Given the description of an element on the screen output the (x, y) to click on. 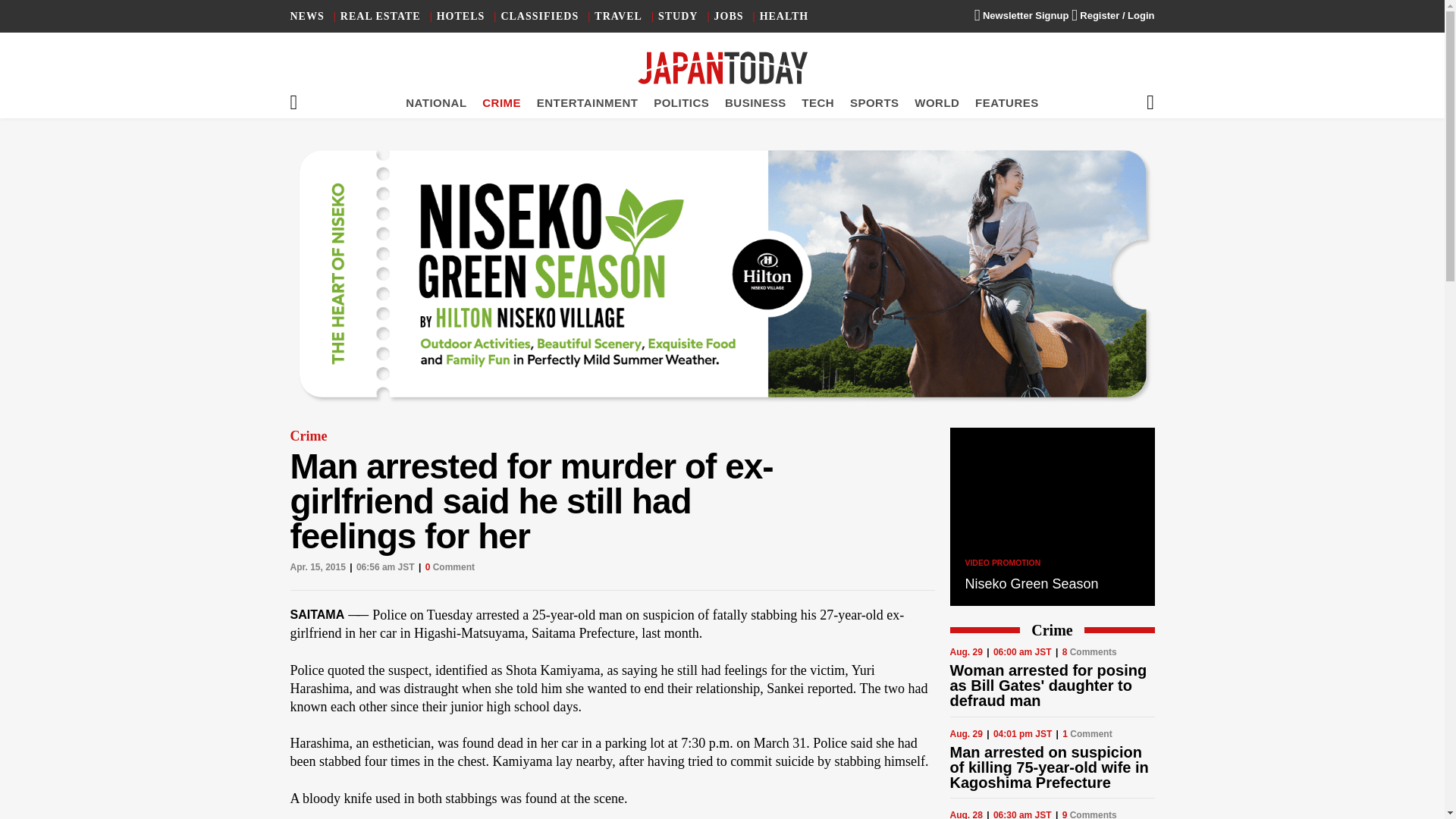
HEALTH (784, 16)
SPORTS (874, 102)
Japan Today (721, 67)
FEATURES (1007, 102)
NEWS (306, 16)
TRAVEL (618, 16)
Newsletter Signup (1021, 15)
CLASSIFIEDS (539, 16)
Japan Today (721, 67)
